Given the description of an element on the screen output the (x, y) to click on. 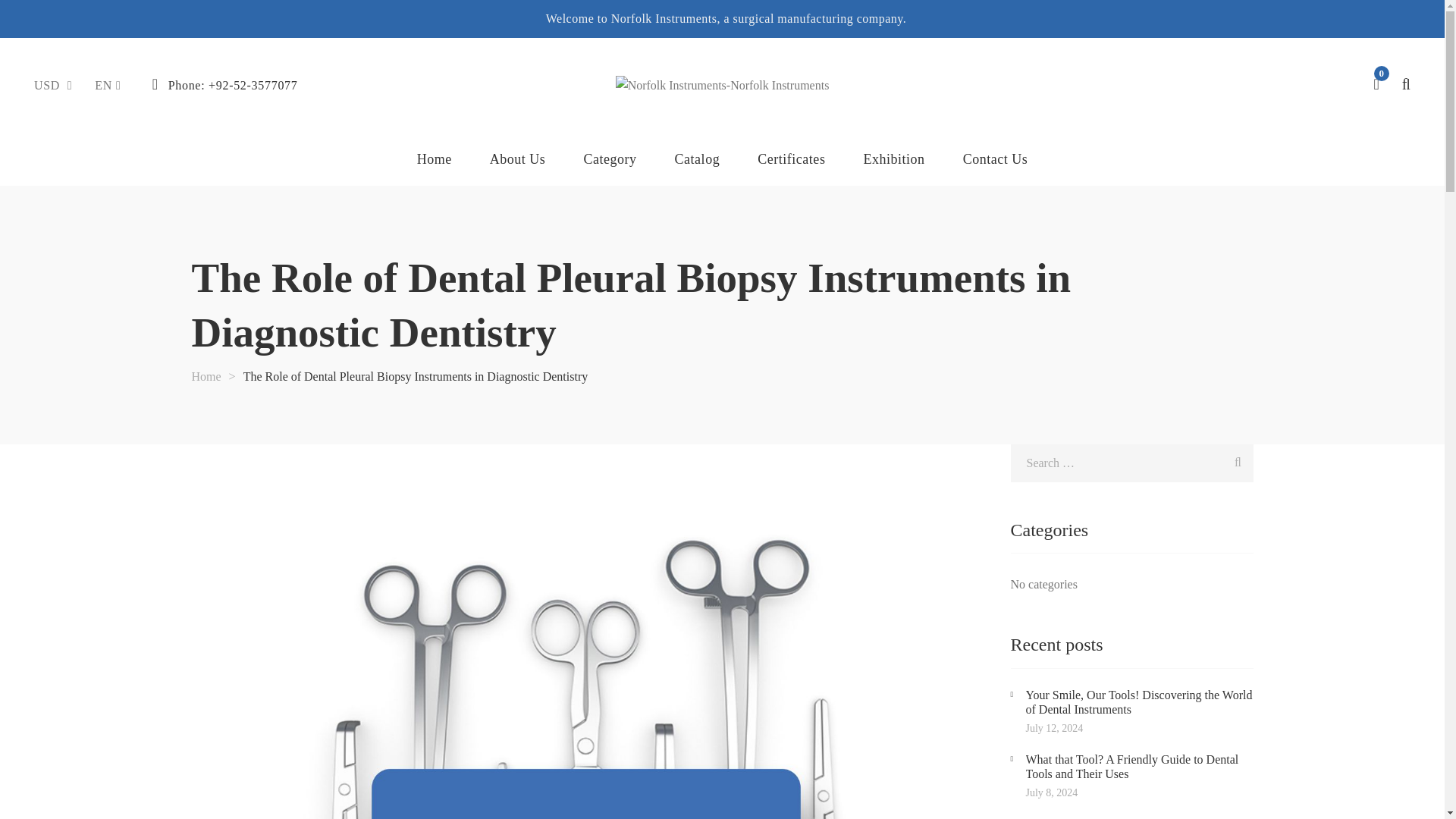
Home (433, 159)
Category (609, 159)
Contact Us (994, 159)
Exhibition (893, 159)
Certificates (791, 159)
Catalog (697, 159)
Home (205, 376)
About Us (517, 159)
Norfolk Instruments-Norfolk Instruments (722, 85)
